Given the description of an element on the screen output the (x, y) to click on. 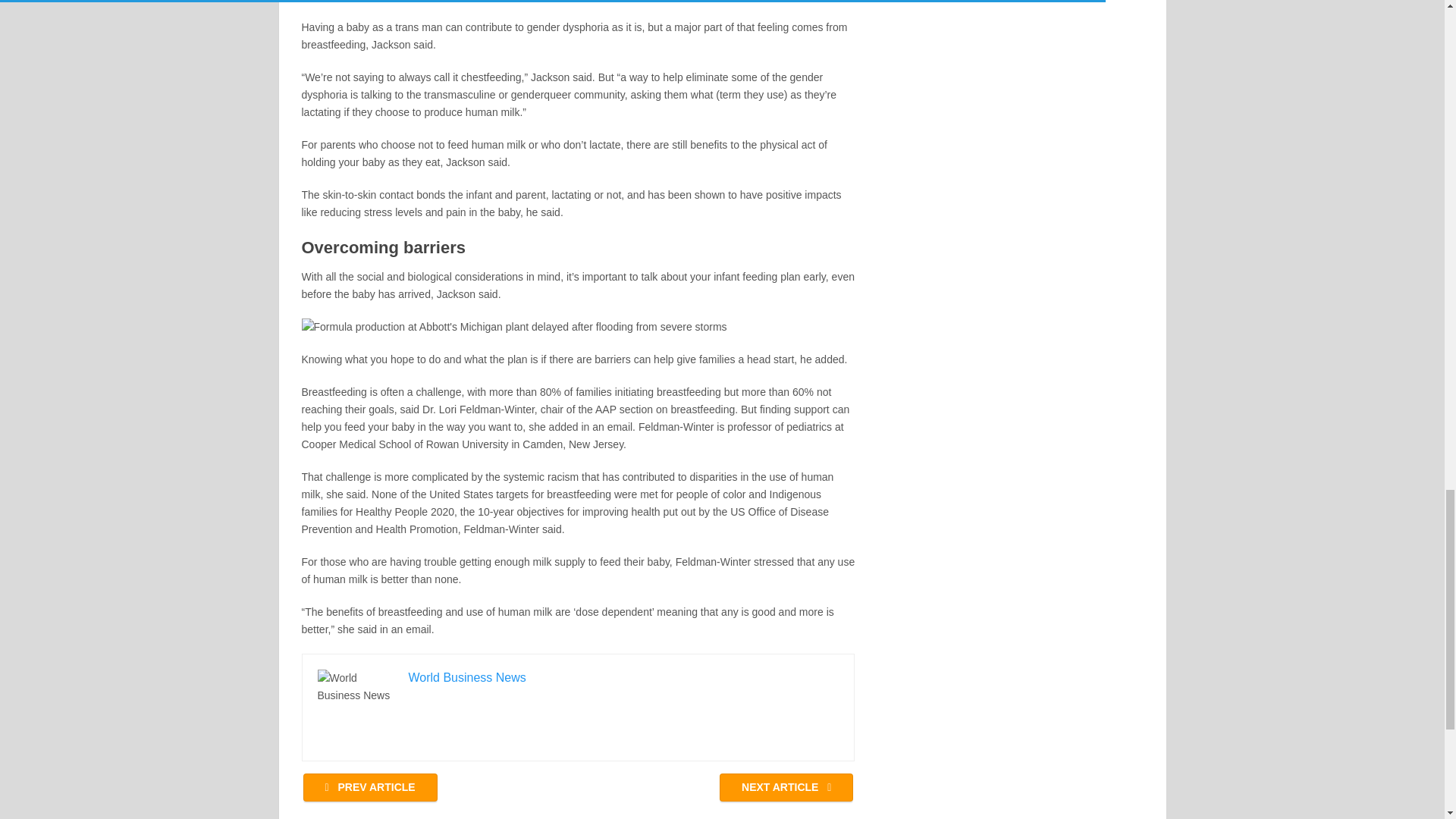
PREV ARTICLE (370, 787)
NEXT ARTICLE (786, 787)
